Given the description of an element on the screen output the (x, y) to click on. 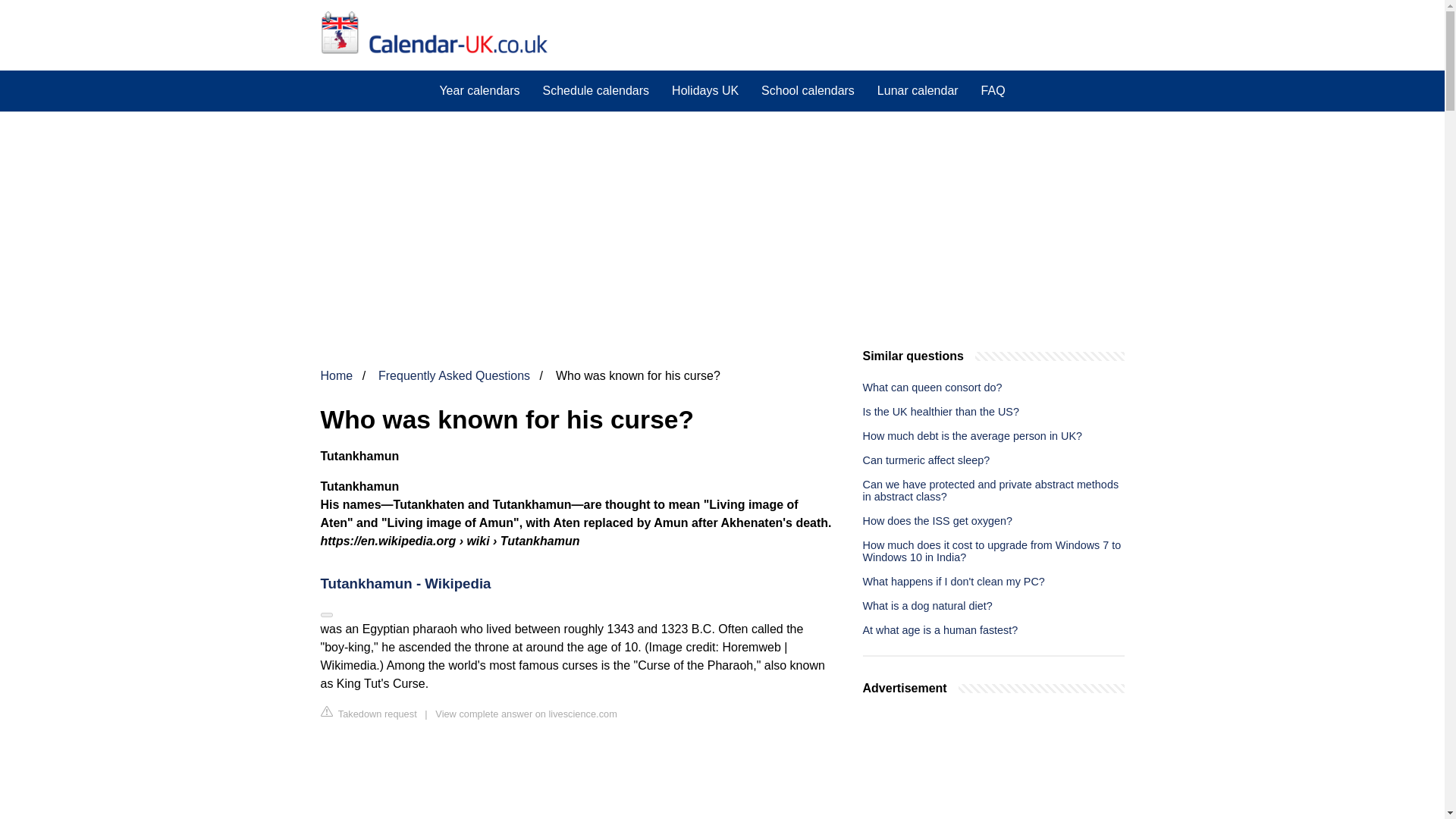
Home (336, 375)
FAQ (992, 90)
Tutankhamun - Wikipedia (575, 583)
School calendars (807, 90)
Frequently Asked Questions (453, 375)
View complete answer on livescience.com (525, 713)
Lunar calendar (917, 90)
Holidays UK (705, 90)
Takedown request (368, 713)
Year calendars (479, 90)
Schedule calendars (596, 90)
